Given the description of an element on the screen output the (x, y) to click on. 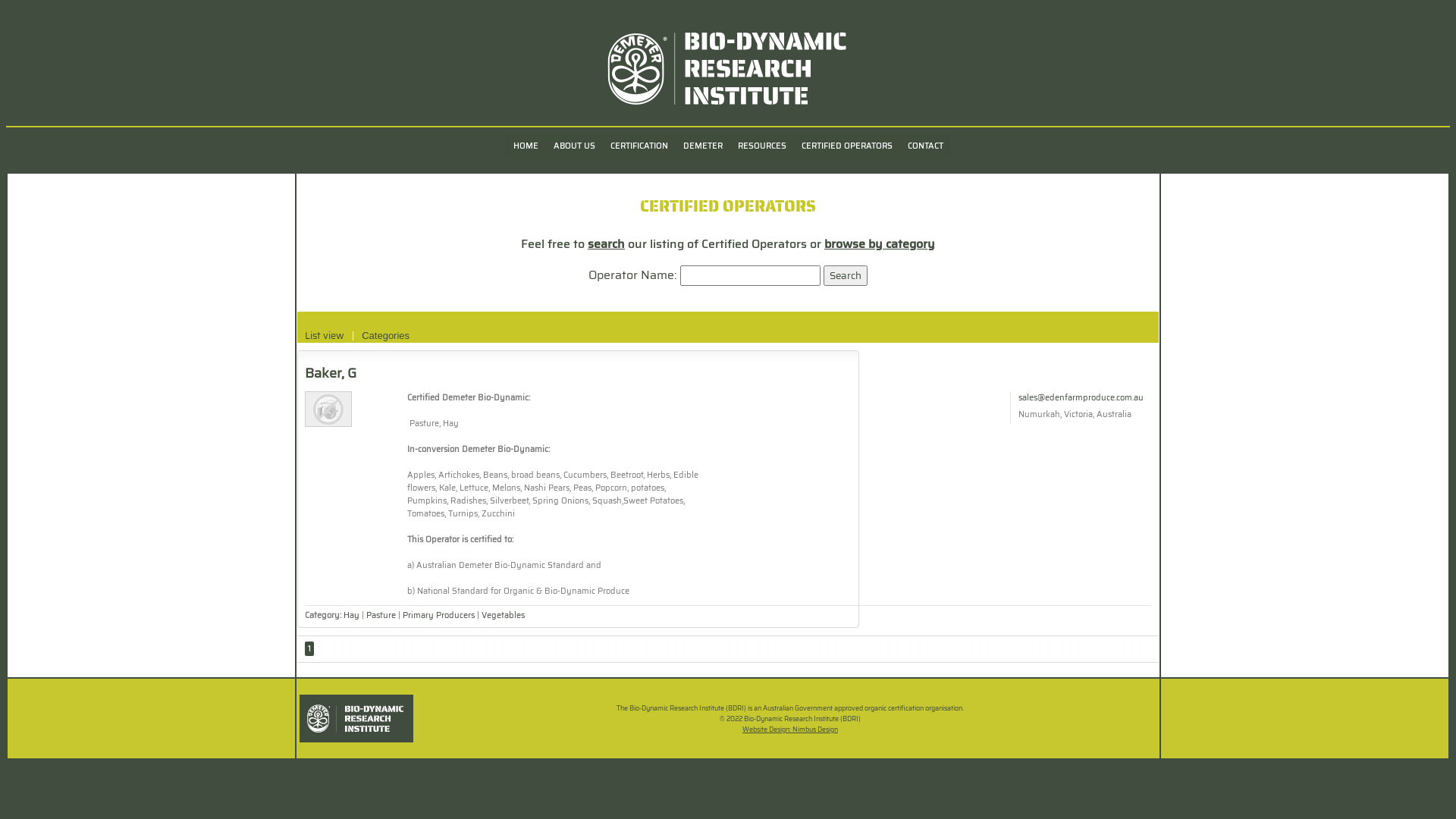
HOME Element type: text (525, 145)
CERTIFIED OPERATORS Element type: text (846, 145)
DEMETER Element type: text (701, 145)
sales@edenfarmproduce.com.au Element type: text (1080, 397)
ABOUT US Element type: text (574, 145)
Website Design: Nimbus Design Element type: text (789, 729)
Pasture Element type: text (380, 614)
browse by category Element type: text (879, 243)
CONTACT Element type: text (924, 145)
List view Element type: text (324, 335)
search Element type: text (605, 243)
Categories Element type: text (385, 335)
RESOURCES Element type: text (761, 145)
Hay Element type: text (352, 614)
Vegetables Element type: text (502, 614)
CERTIFICATION Element type: text (638, 145)
Primary Producers Element type: text (438, 614)
Search Element type: text (845, 275)
